Given the description of an element on the screen output the (x, y) to click on. 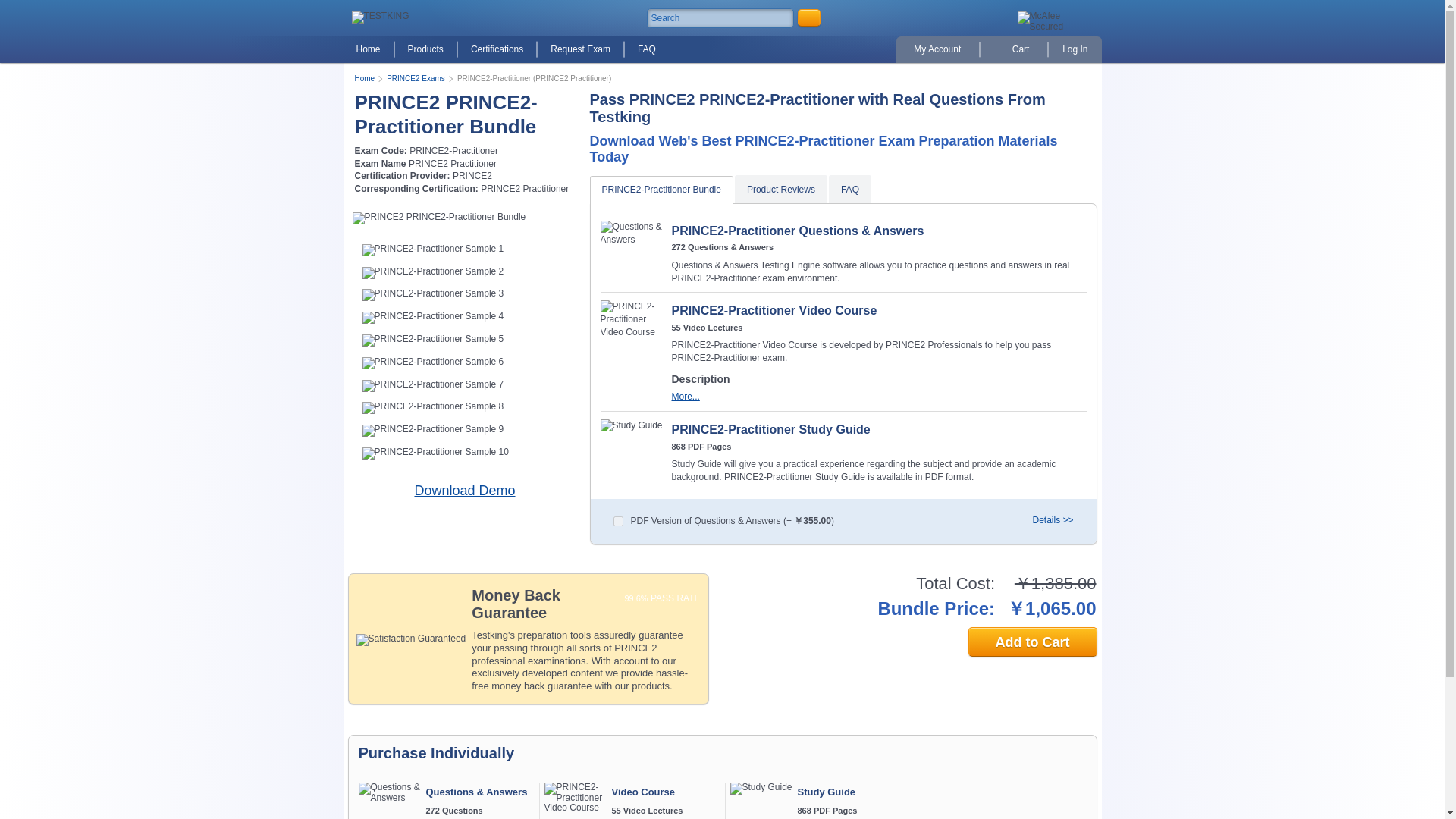
FAQ (646, 49)
PRINCE2-Practitioner Study Guide (631, 425)
Products (425, 49)
Home (367, 49)
Request Exam (580, 49)
1 (617, 521)
Certifications (496, 49)
PRINCE2-Practitioner Video Course (631, 319)
PRINCE2-Practitioner Video Course (576, 798)
Add PRINCE2-Practitioner Bundle To Cart (1032, 642)
